Given the description of an element on the screen output the (x, y) to click on. 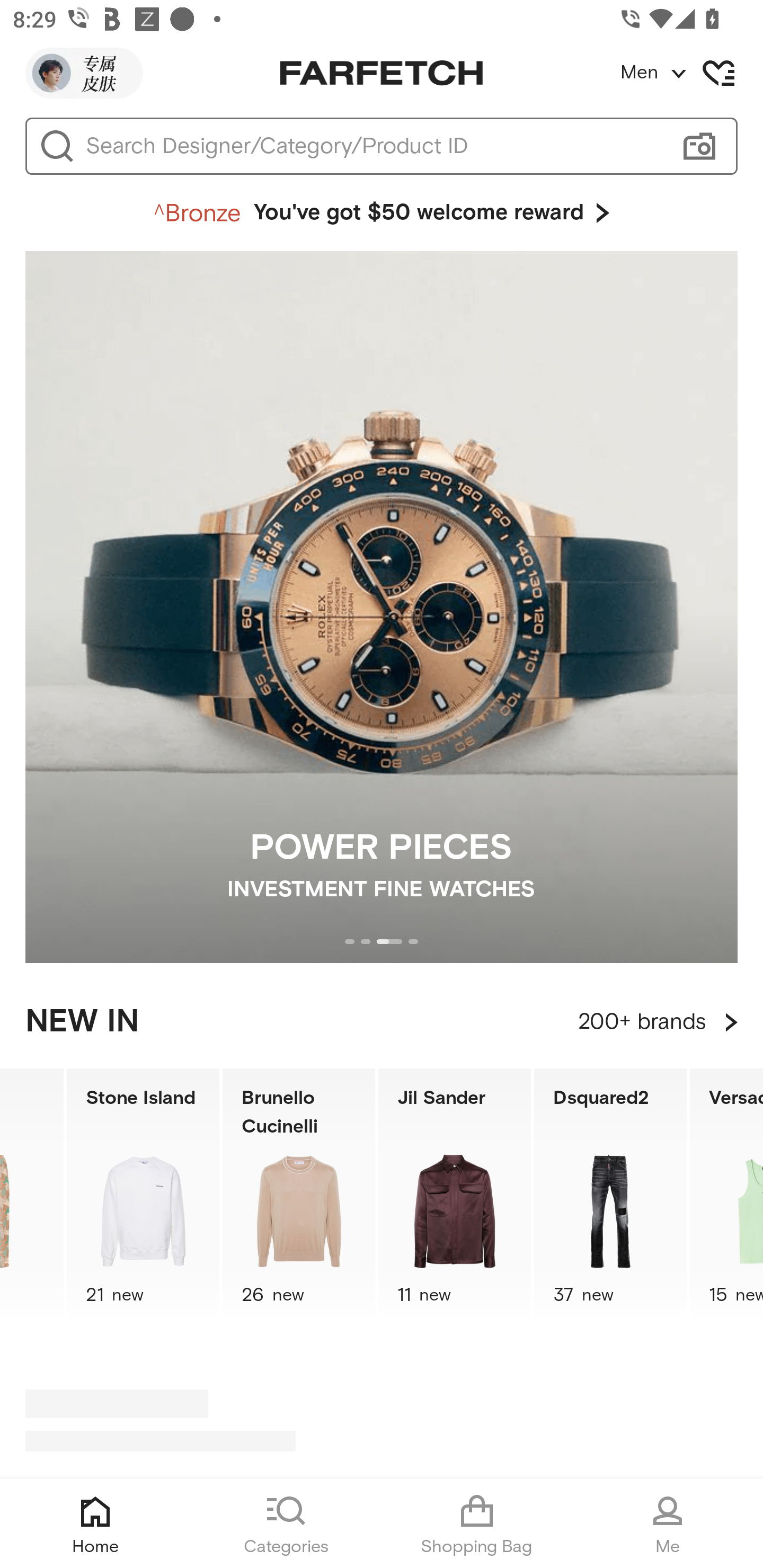
Men (691, 72)
Search Designer/Category/Product ID (373, 146)
You've got $50 welcome reward (381, 213)
NEW IN 200+ brands (381, 1021)
Stone Island 21  new (143, 1196)
Brunello Cucinelli 26  new (298, 1196)
Jil Sander 11  new (454, 1196)
Dsquared2 37  new (610, 1196)
Categories (285, 1523)
Shopping Bag (476, 1523)
Me (667, 1523)
